Given the description of an element on the screen output the (x, y) to click on. 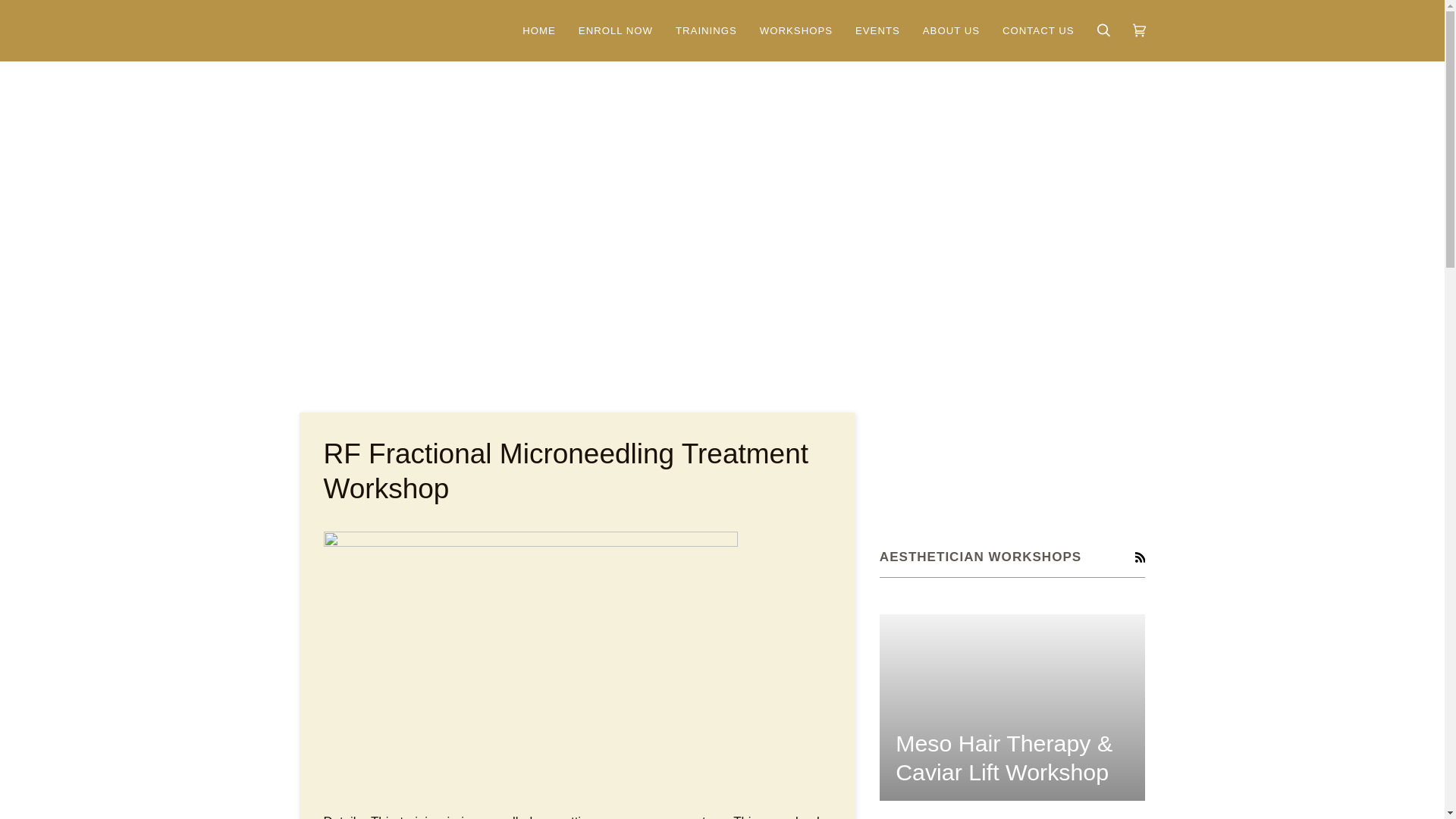
HOME (539, 30)
ABOUT US (951, 30)
CONTACT US (1038, 30)
EVENTS (877, 30)
WORKSHOPS (796, 30)
ENROLL NOW (615, 30)
TRAININGS (705, 30)
